Given the description of an element on the screen output the (x, y) to click on. 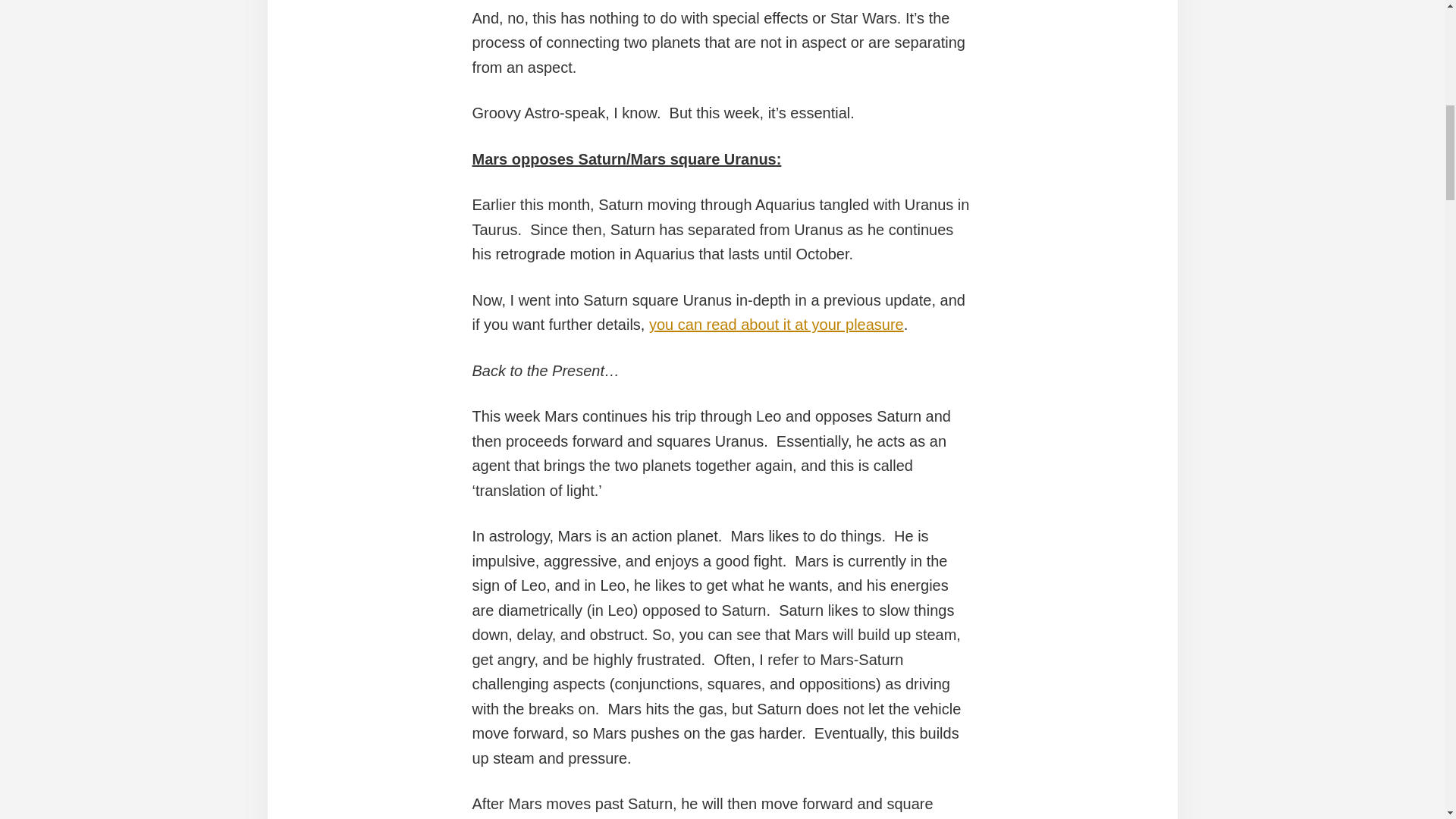
you can read about it at your pleasure (776, 324)
